Given the description of an element on the screen output the (x, y) to click on. 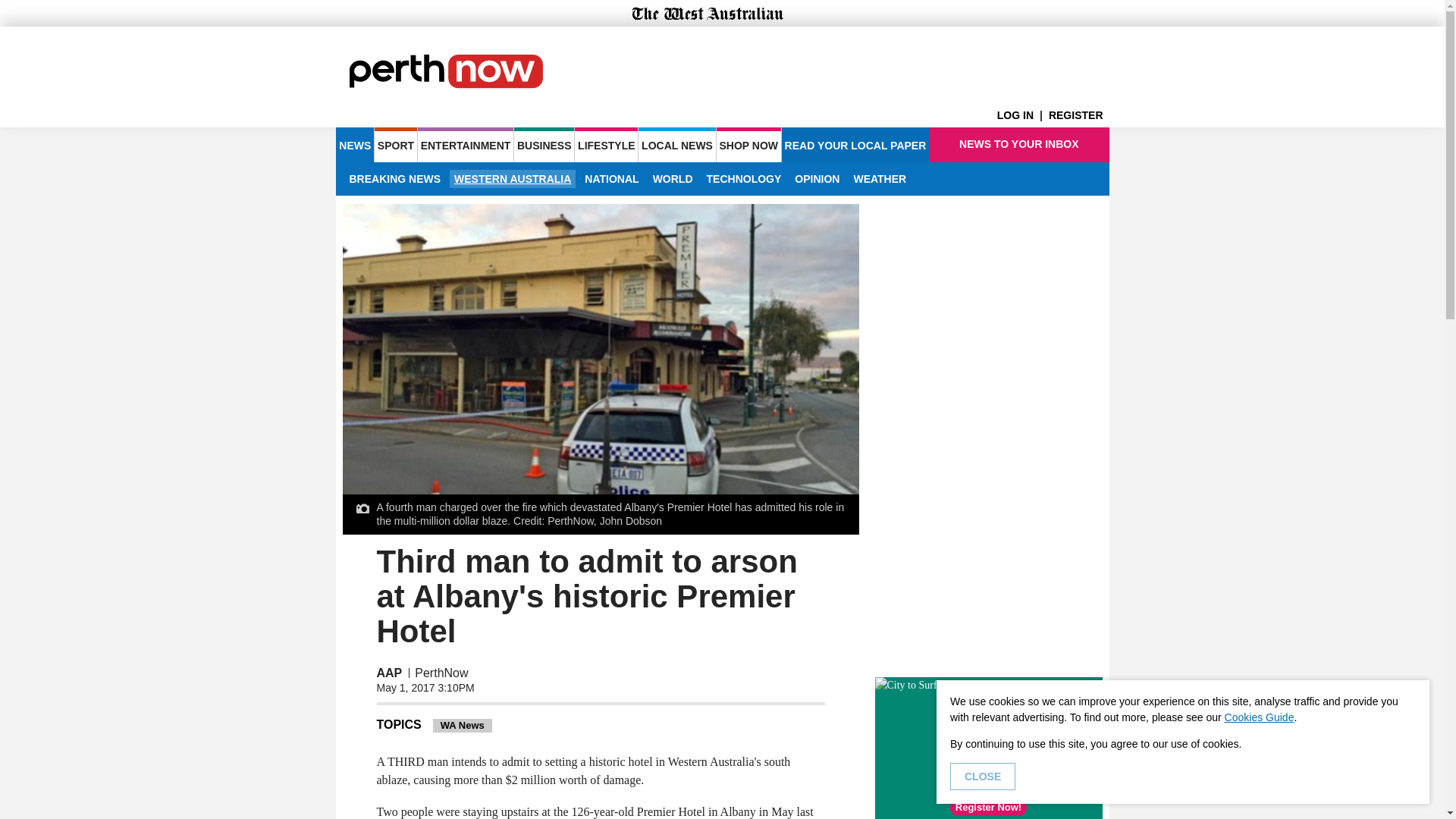
REGISTER (1078, 115)
LOG IN (1022, 115)
SPORT (395, 144)
NEWS (354, 144)
ENTERTAINMENT (465, 144)
